Given the description of an element on the screen output the (x, y) to click on. 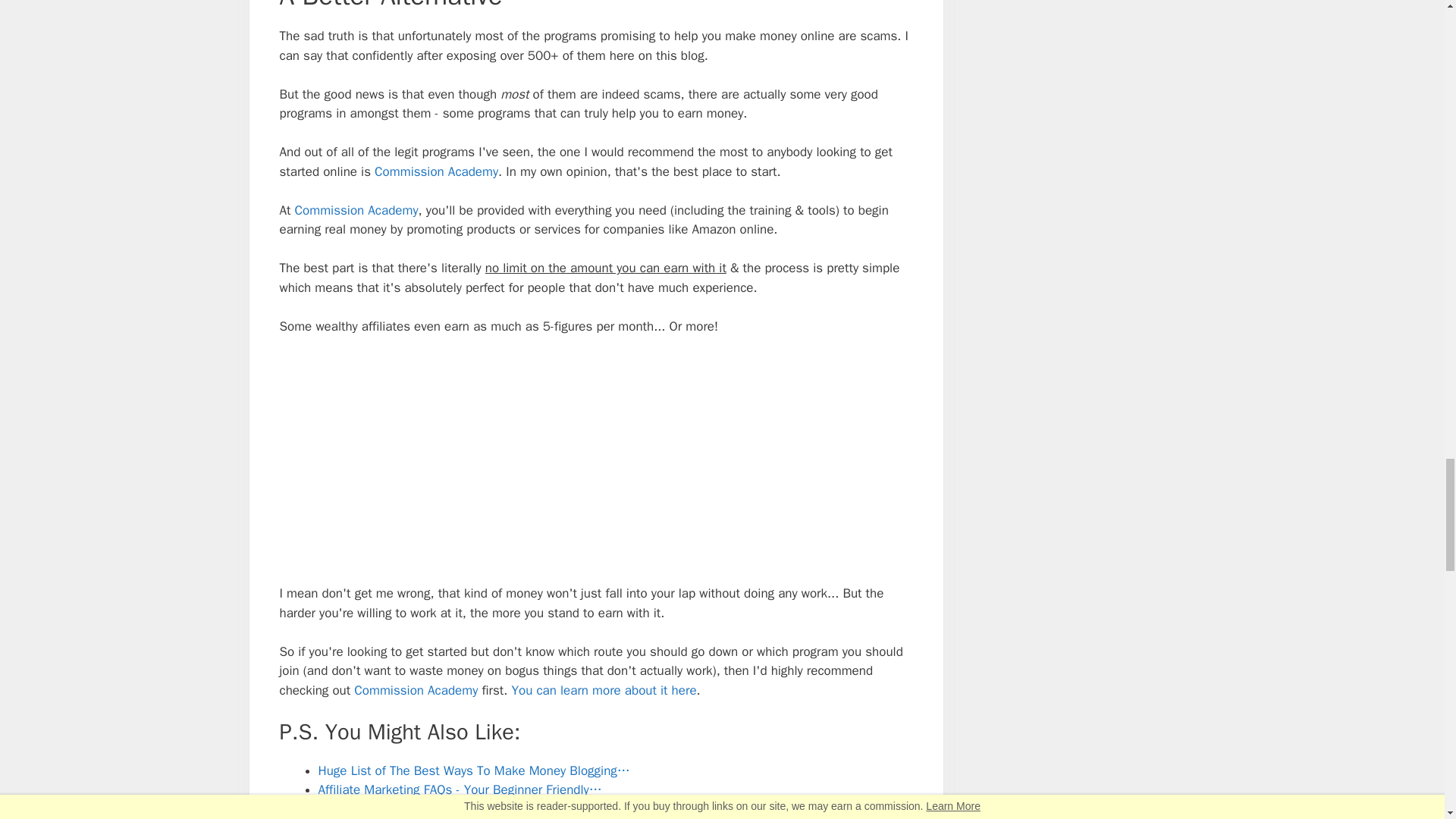
You can learn more about it here (603, 690)
Commission Academy (435, 171)
Commission Academy (357, 210)
Commission Academy (415, 690)
